Given the description of an element on the screen output the (x, y) to click on. 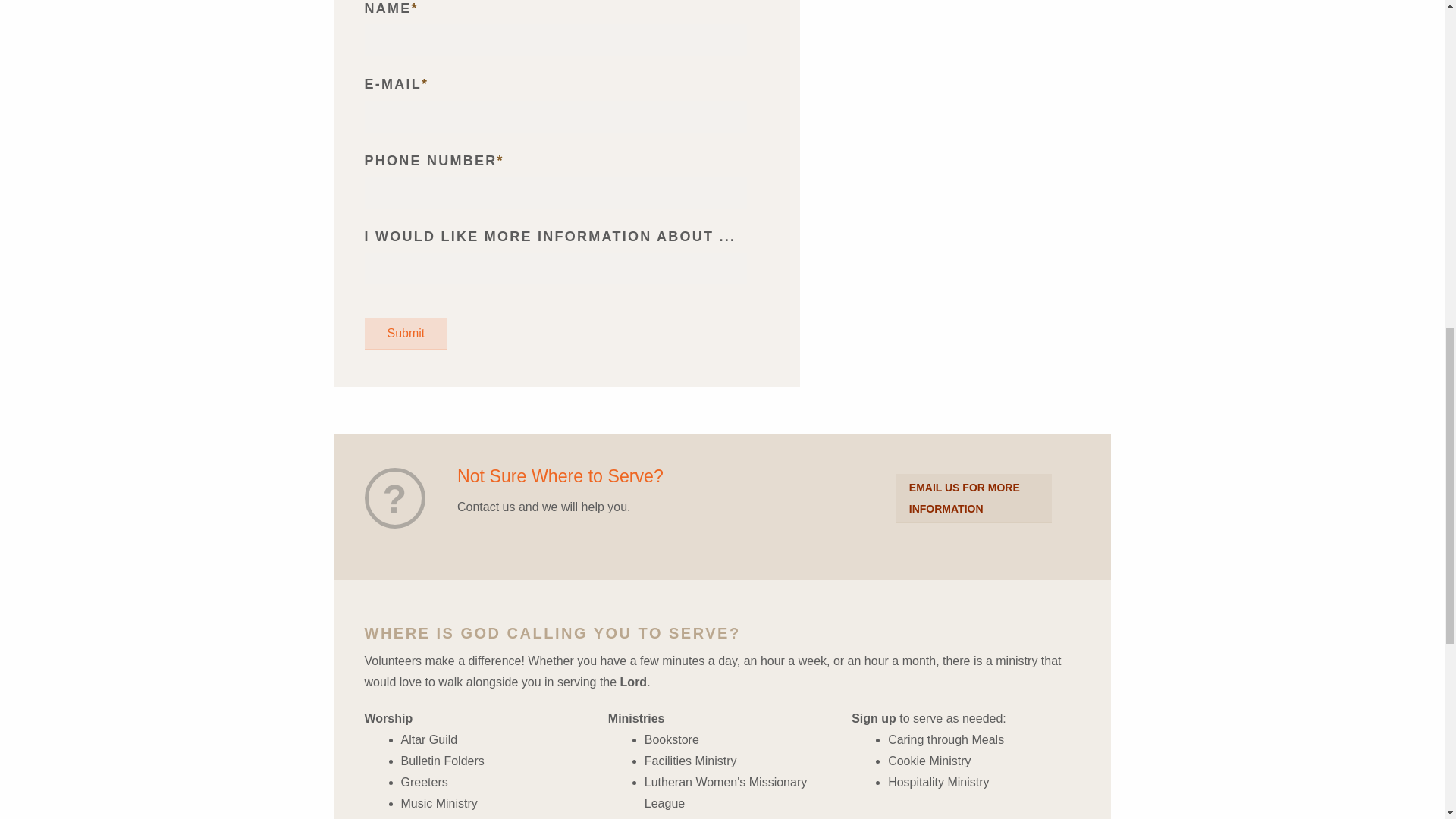
Submit (405, 334)
